Given the description of an element on the screen output the (x, y) to click on. 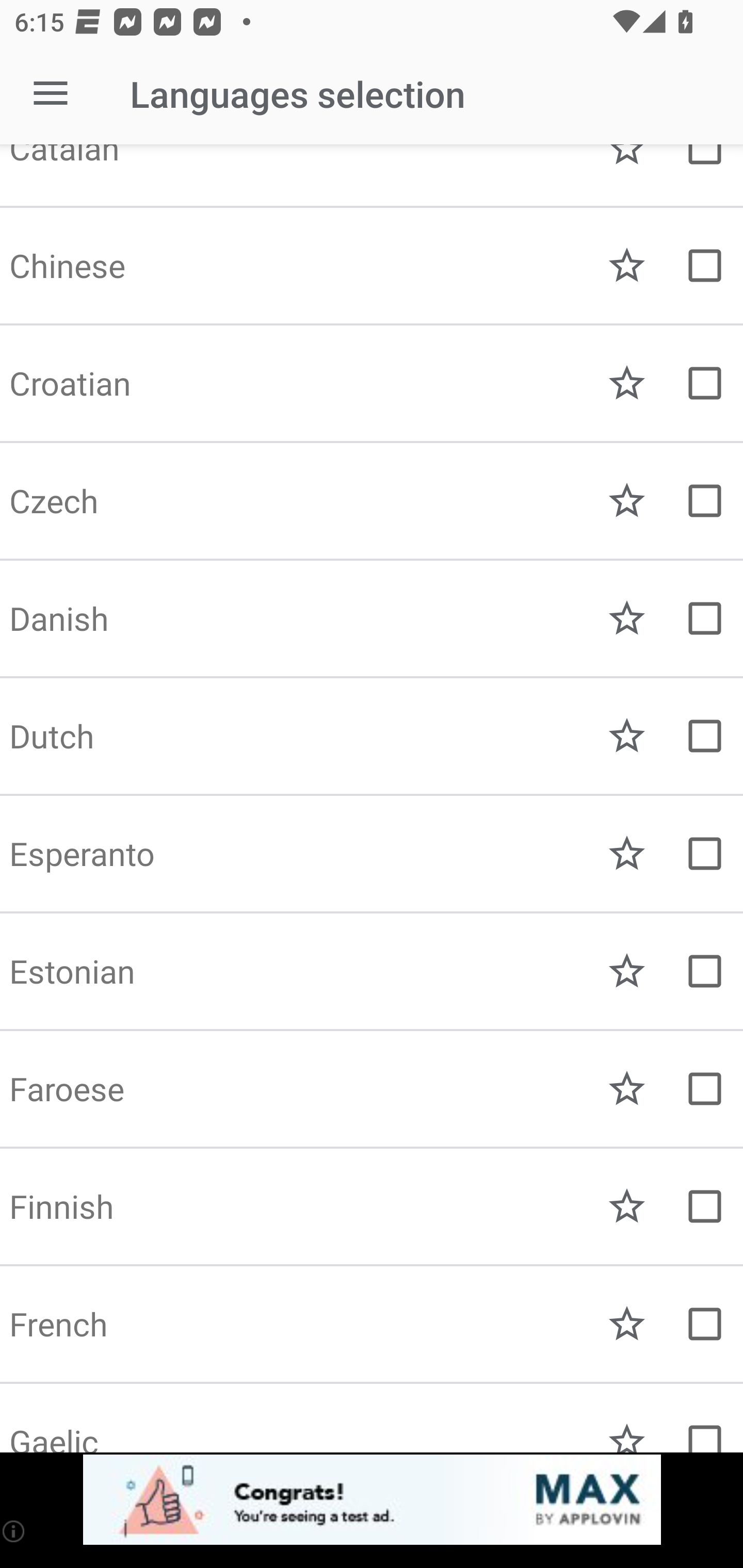
Open navigation sidebar (50, 93)
Chinese Favorite (371, 265)
Favorite (626, 265)
Croatian Favorite (371, 383)
Favorite (626, 383)
Czech Favorite (371, 500)
Favorite (626, 500)
Danish Favorite (371, 618)
Favorite (626, 618)
Dutch Favorite (371, 735)
Favorite (626, 736)
Esperanto Favorite (371, 853)
Favorite (626, 853)
Estonian Favorite (371, 971)
Favorite (626, 971)
Faroese Favorite (371, 1088)
Favorite (626, 1088)
Finnish Favorite (371, 1206)
Favorite (626, 1206)
French Favorite (371, 1323)
Favorite (626, 1324)
Gaelic Favorite (371, 1417)
app-monetization (371, 1500)
(i) (14, 1531)
